Given the description of an element on the screen output the (x, y) to click on. 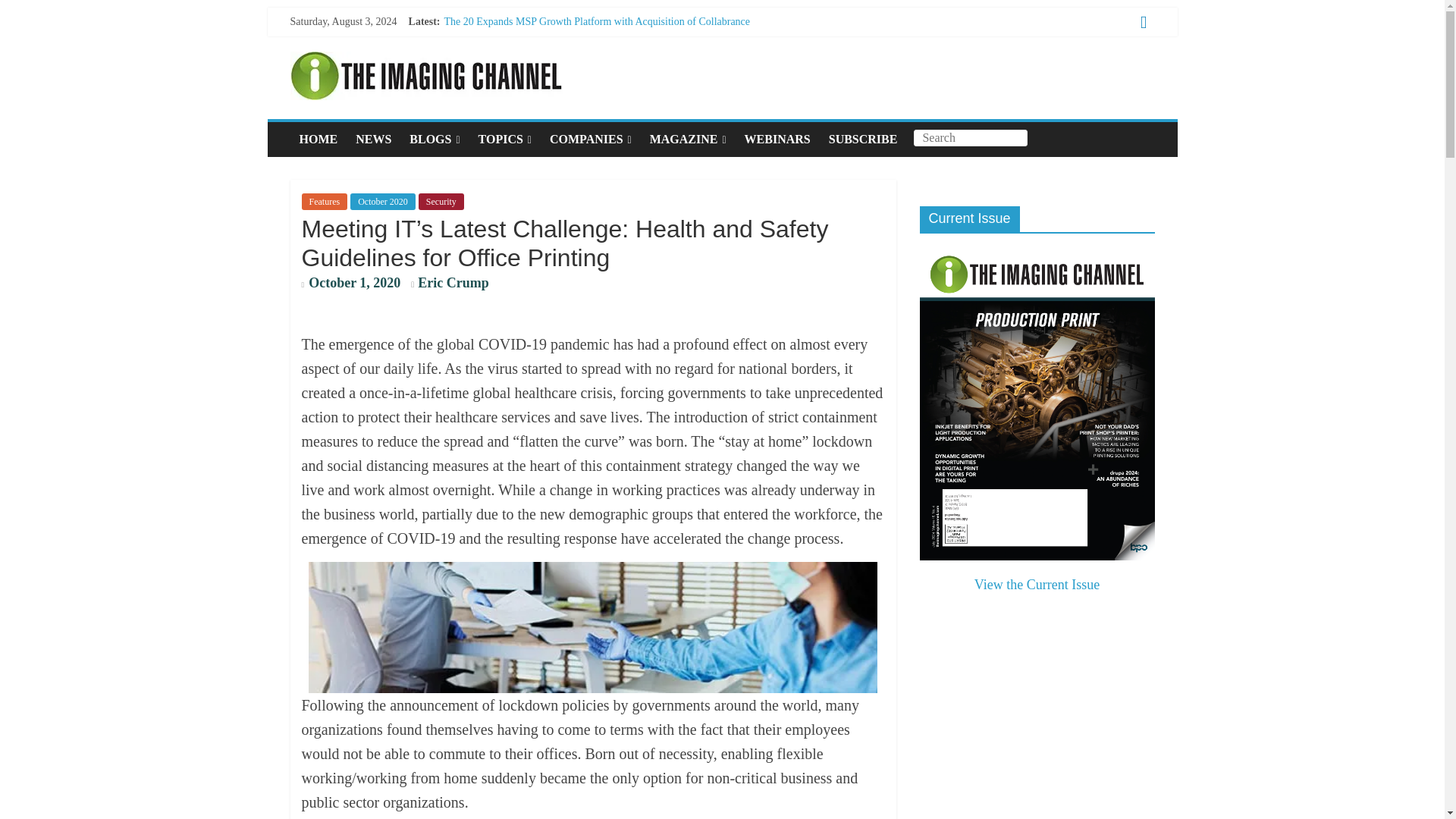
NEWS (373, 139)
COMPANIES (590, 139)
7:47 am (351, 284)
HOME (317, 139)
TOPICS (504, 139)
Eric Crump (453, 282)
BLOGS (434, 139)
